Given the description of an element on the screen output the (x, y) to click on. 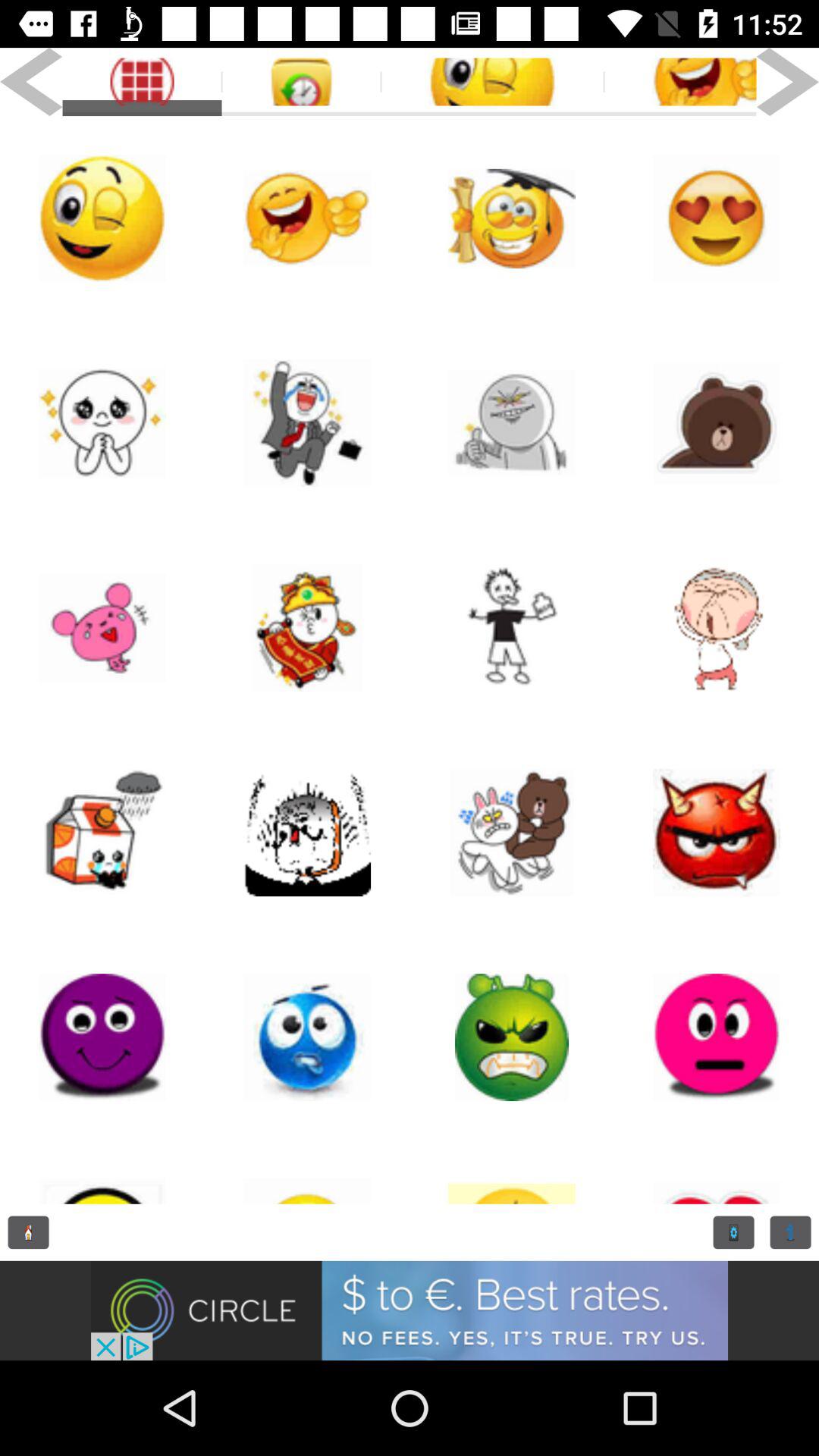
select emoji (102, 1171)
